Given the description of an element on the screen output the (x, y) to click on. 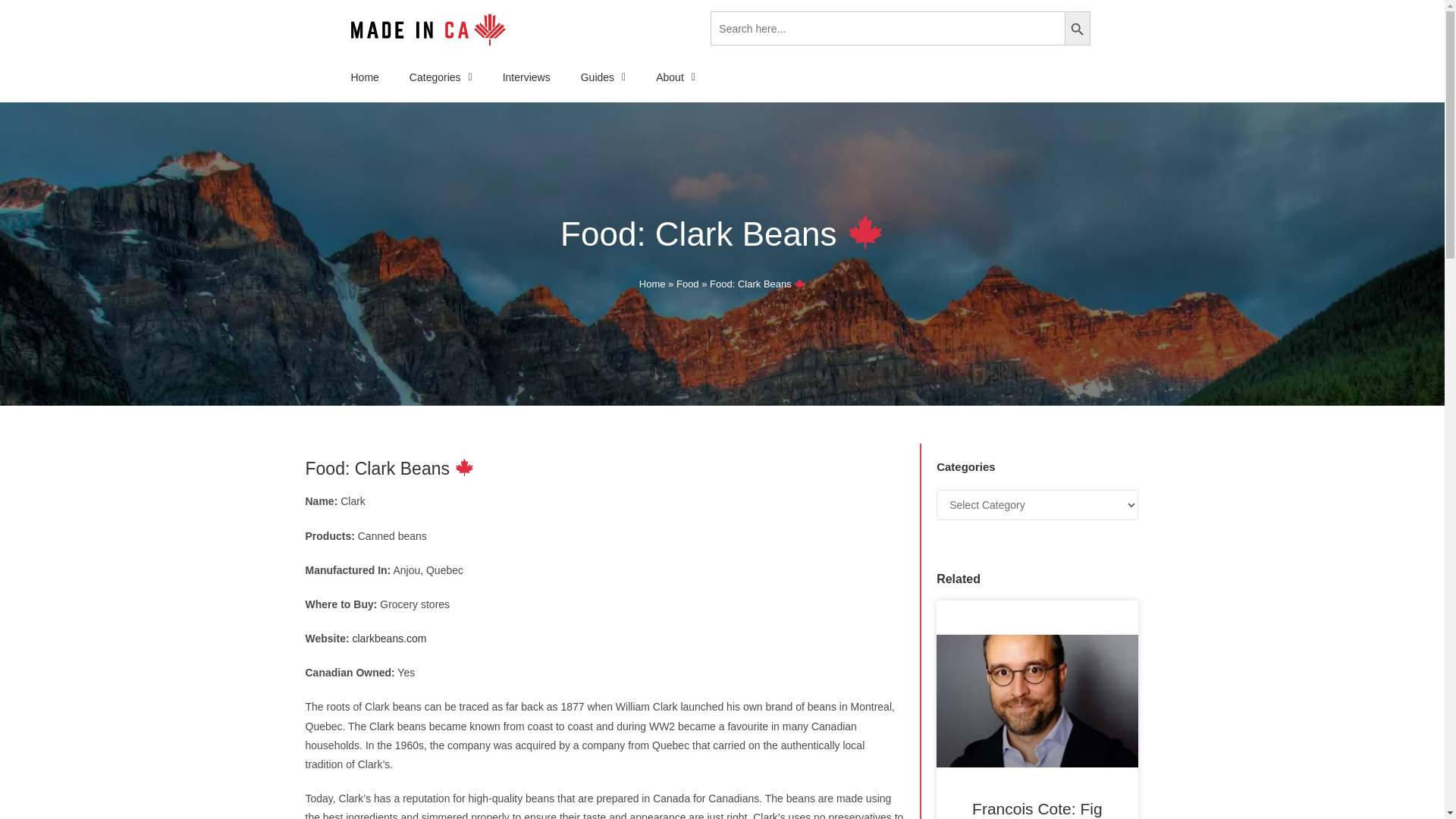
Home (363, 77)
SEARCH BUTTON (1077, 28)
Categories (440, 77)
